Given the description of an element on the screen output the (x, y) to click on. 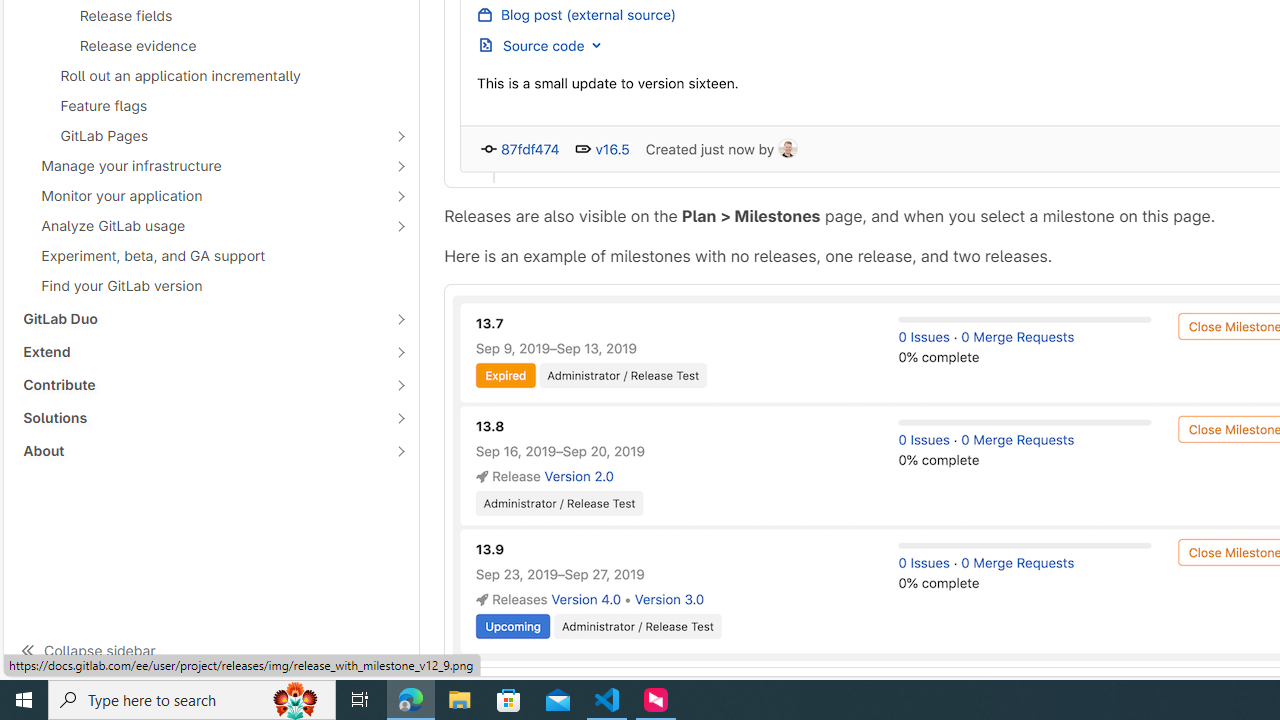
Experiment, beta, and GA support (211, 255)
